Given the description of an element on the screen output the (x, y) to click on. 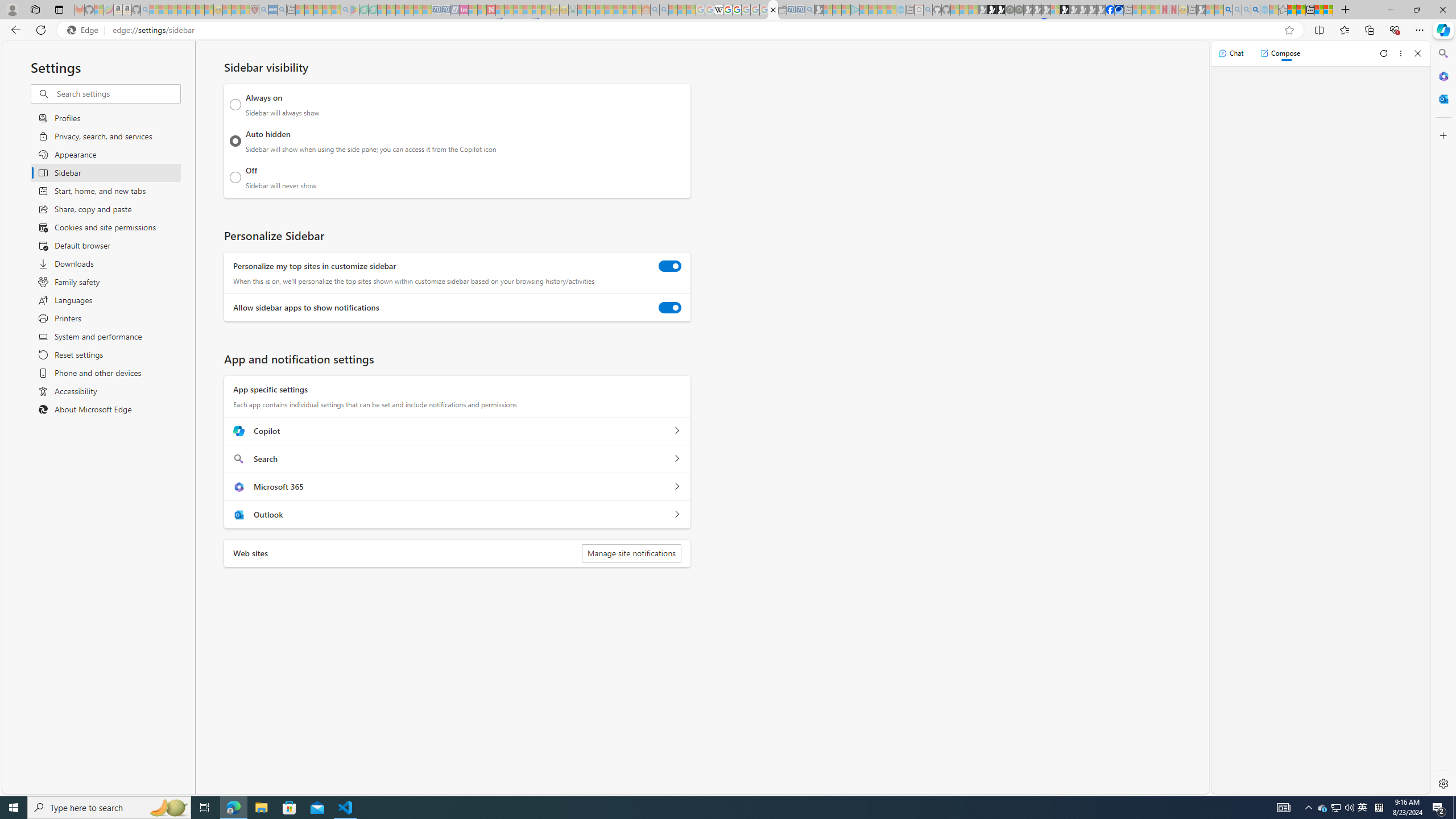
Bing AI - Search (1227, 9)
New Report Confirms 2023 Was Record Hot | Watch - Sleeping (191, 9)
utah sues federal government - Search - Sleeping (281, 9)
Utah sues federal government - Search - Sleeping (663, 9)
14 Common Myths Debunked By Scientific Facts - Sleeping (508, 9)
Always on Sidebar will always show (235, 104)
Target page - Wikipedia (718, 9)
